Given the description of an element on the screen output the (x, y) to click on. 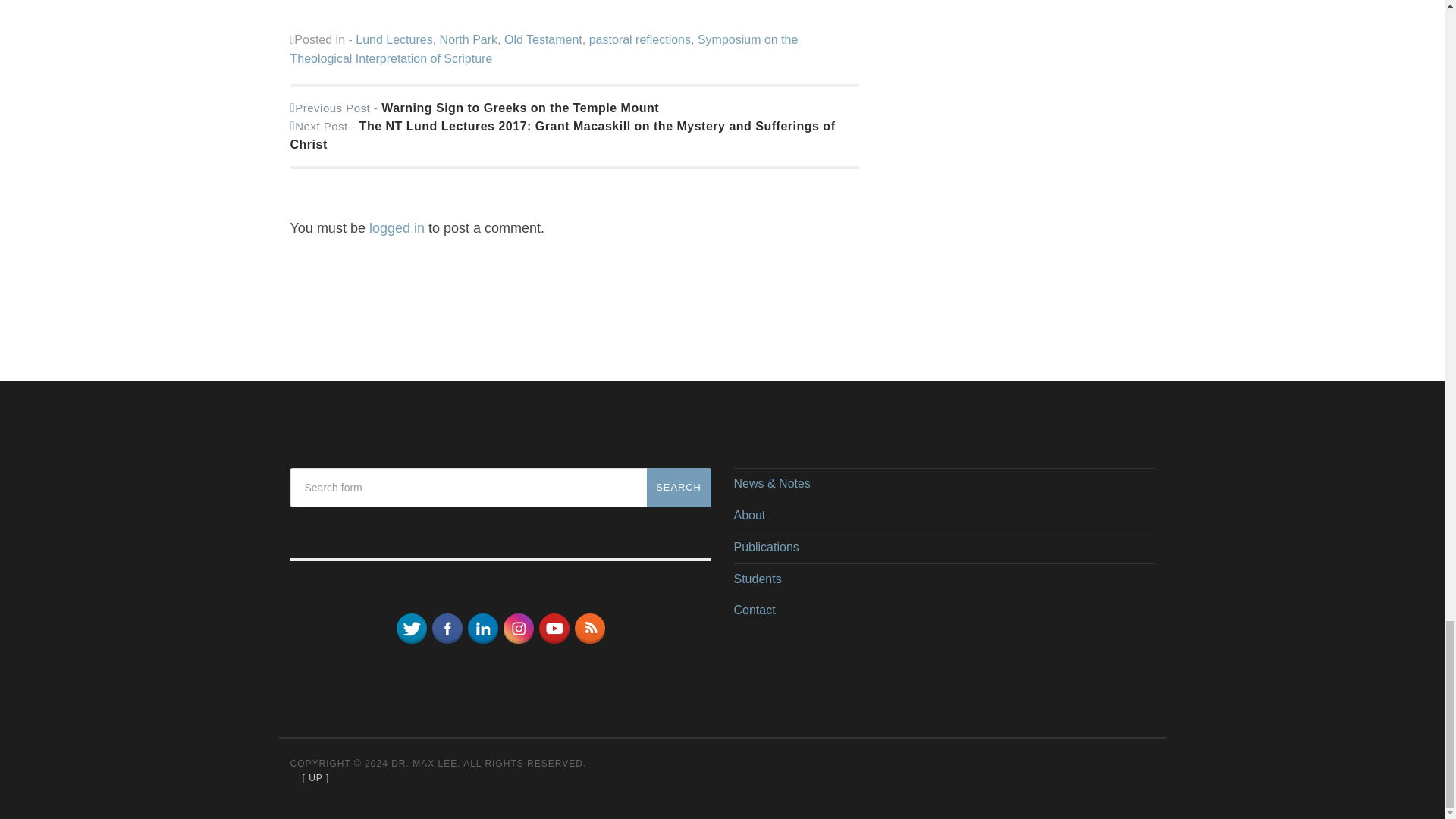
Symposium on the Theological Interpretation of Scripture (543, 49)
Lund Lectures (393, 39)
Old Testament (542, 39)
North Park (468, 39)
pastoral reflections (639, 39)
Search (678, 486)
logged in (397, 227)
